Given the description of an element on the screen output the (x, y) to click on. 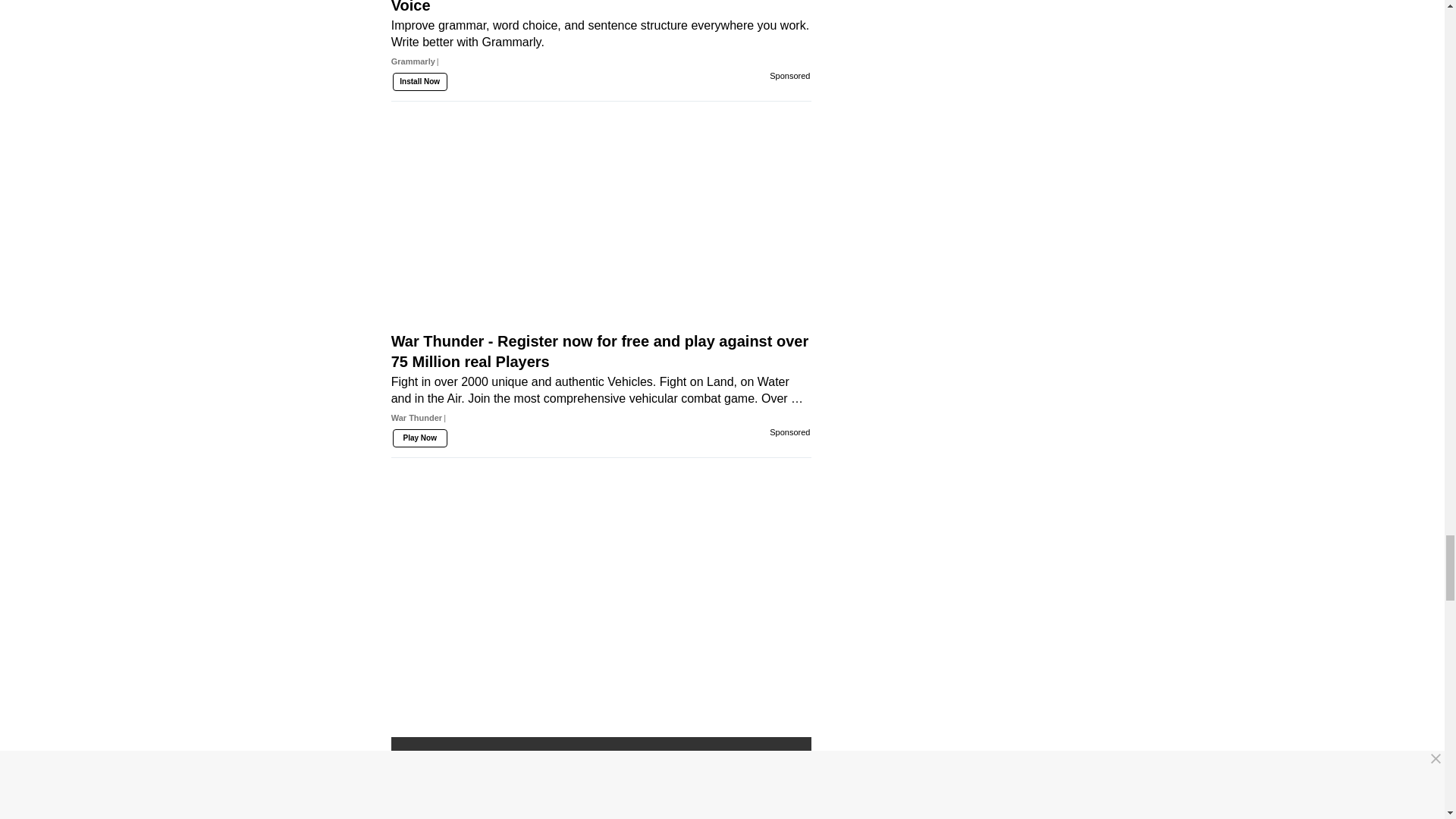
Use an AI Writing Tool That Actually Understands Your Voice (600, 50)
